Given the description of an element on the screen output the (x, y) to click on. 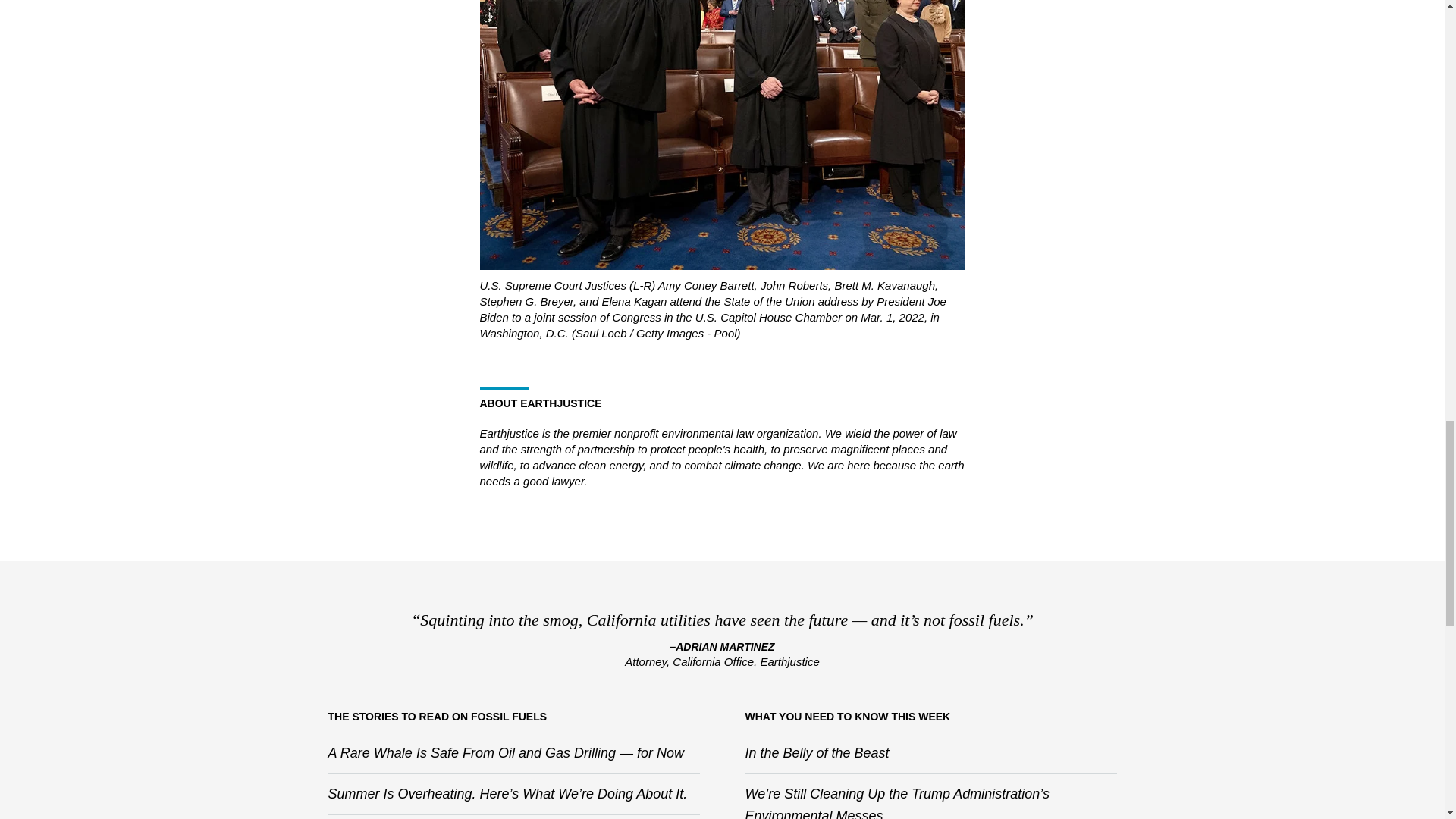
In the Belly of the Beast (816, 752)
